Given the description of an element on the screen output the (x, y) to click on. 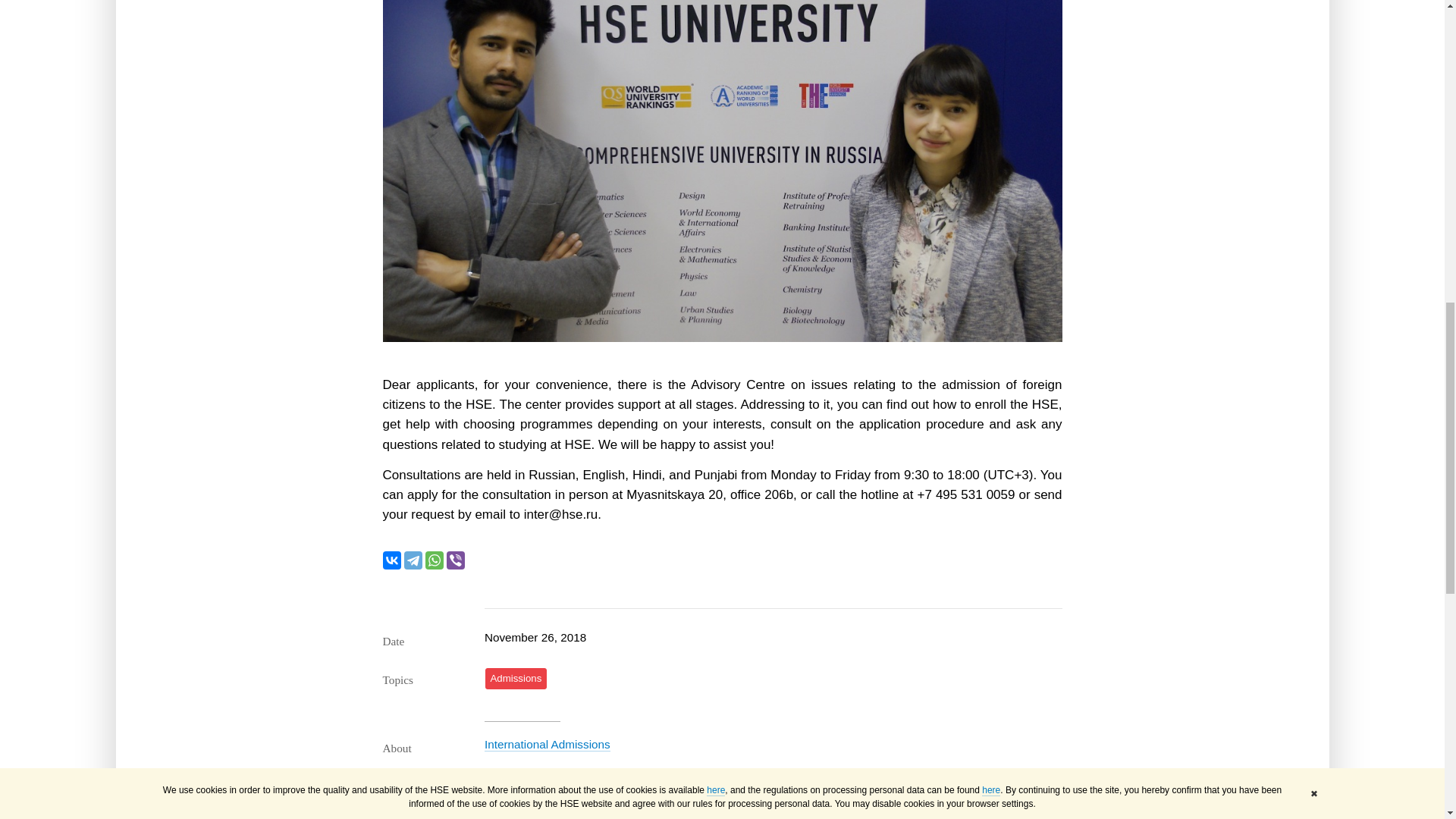
VKontakte (390, 560)
Telegram (412, 560)
Viber (454, 560)
WhatsApp (433, 560)
